Given the description of an element on the screen output the (x, y) to click on. 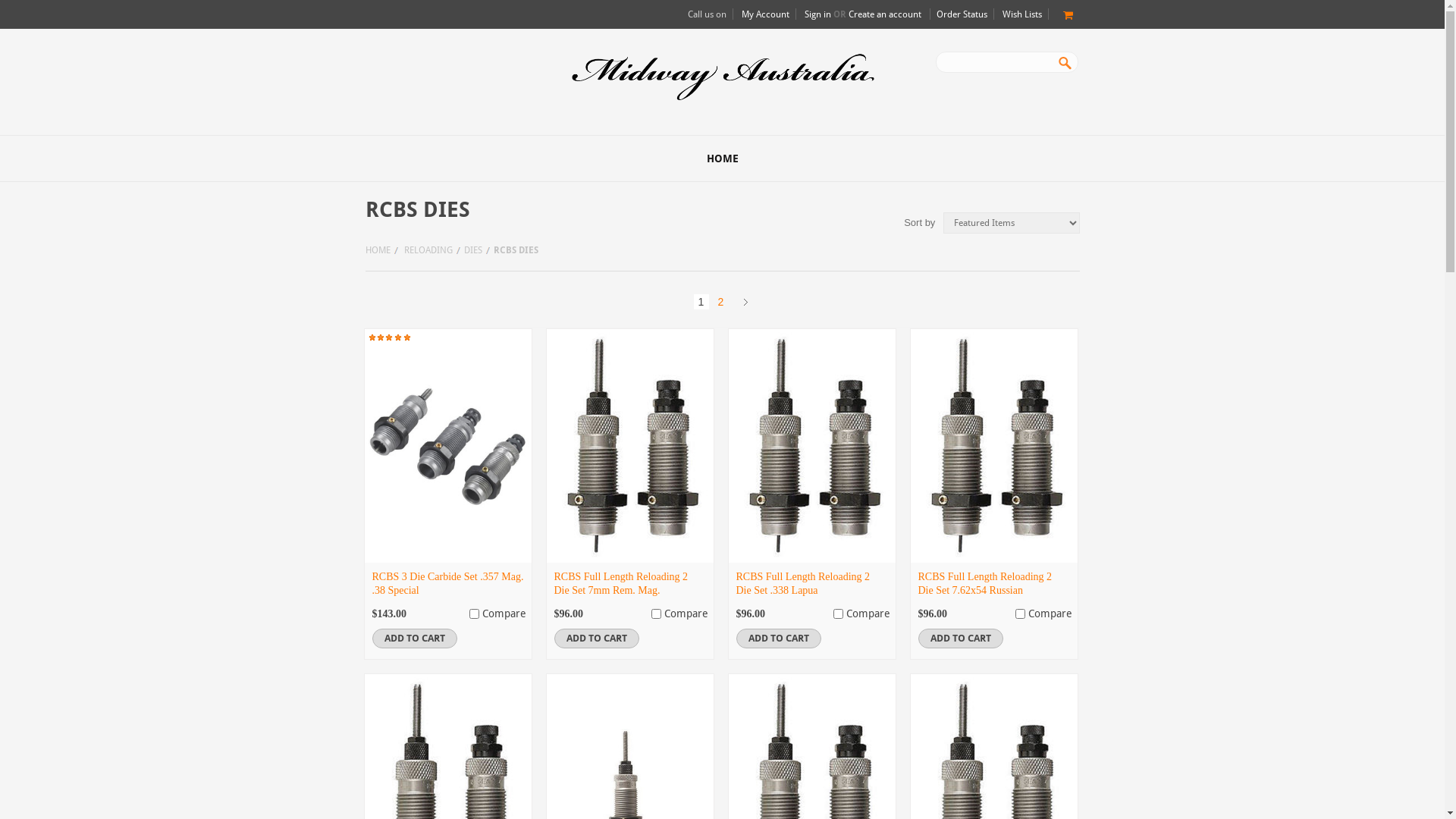
ADD TO CART Element type: text (413, 638)
My Account Element type: text (765, 14)
ADD TO CART Element type: text (595, 638)
HOME Element type: text (381, 249)
RCBS Full Length Reloading 2 Die Set 7mm Rem. Mag. Element type: text (620, 583)
Call us on Element type: text (706, 14)
RCBS Full Length Reloading 2 Die Set 7.62x54 Russian Element type: text (984, 583)
Create an account Element type: text (883, 14)
Wish Lists Element type: text (1021, 14)
3919 Element type: text (655, 613)
3913 Element type: text (1019, 613)
HOME Element type: text (721, 158)
RCBS 3 Die Carbide Set .357 Mag. .38 Special Element type: text (447, 583)
Order Status Element type: text (960, 14)
DIES Element type: text (476, 249)
2 Element type: text (720, 301)
Sign in Element type: text (816, 14)
Add to compare Element type: hover (1019, 613)
3914 Element type: text (837, 613)
RCBS Full Length Reloading 2 Die Set .338 Lapua Element type: text (802, 583)
ADD TO CART Element type: text (959, 638)
ADD TO CART Element type: text (777, 638)
RELOADING Element type: text (431, 249)
Add to compare Element type: hover (655, 613)
3921 Element type: text (473, 613)
Add to compare Element type: hover (837, 613)
Add to compare Element type: hover (473, 613)
